Given the description of an element on the screen output the (x, y) to click on. 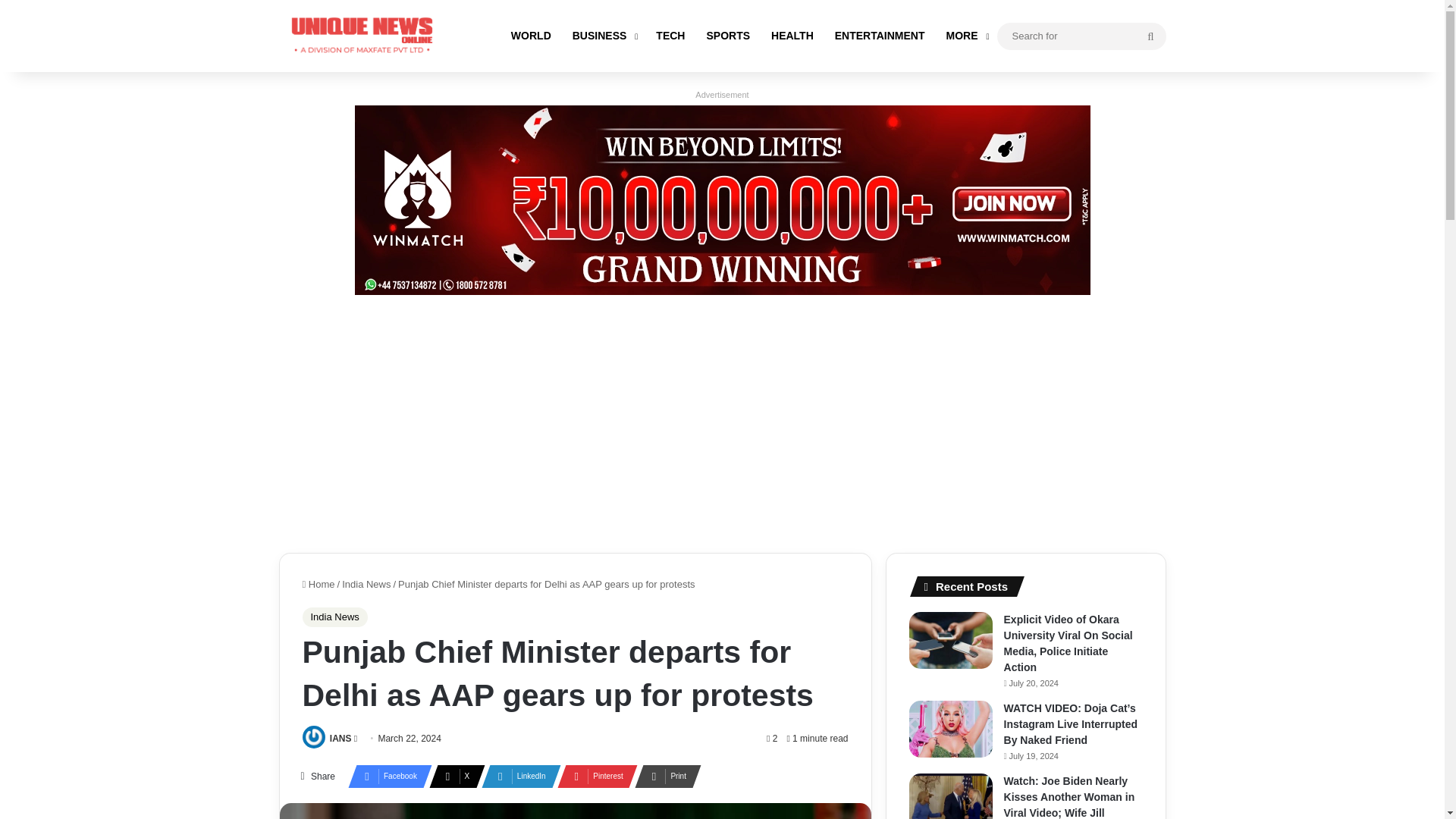
LinkedIn (516, 775)
ENTERTAINMENT (880, 36)
winmatch (722, 198)
X (452, 775)
SPORTS (727, 36)
Print (663, 775)
Facebook (385, 775)
IANS (341, 738)
IANS (341, 738)
Pinterest (592, 775)
Pinterest (592, 775)
India News (333, 617)
BUSINESS (604, 36)
LinkedIn (516, 775)
Facebook (385, 775)
